Given the description of an element on the screen output the (x, y) to click on. 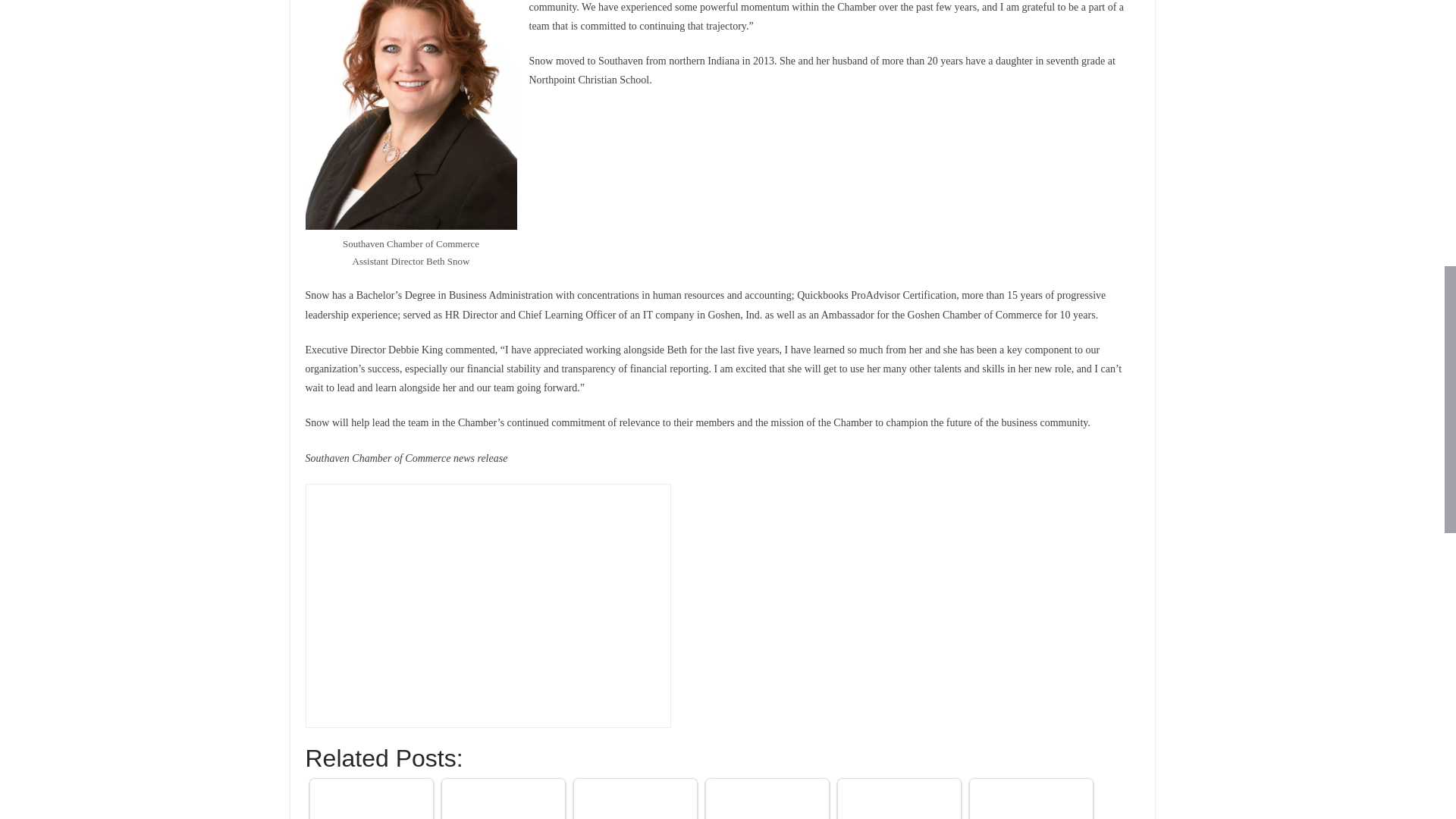
Snow to leave role with Southaven Chamber (502, 800)
Phillips promoted at Community Bank (634, 800)
DeSoto County snow scenes on Twitter (898, 800)
Hibbler promoted to Southaven Chamber assistant director (371, 800)
No make up days for missed snow days (1030, 800)
Garbage collection restarts after snow (767, 800)
